Given the description of an element on the screen output the (x, y) to click on. 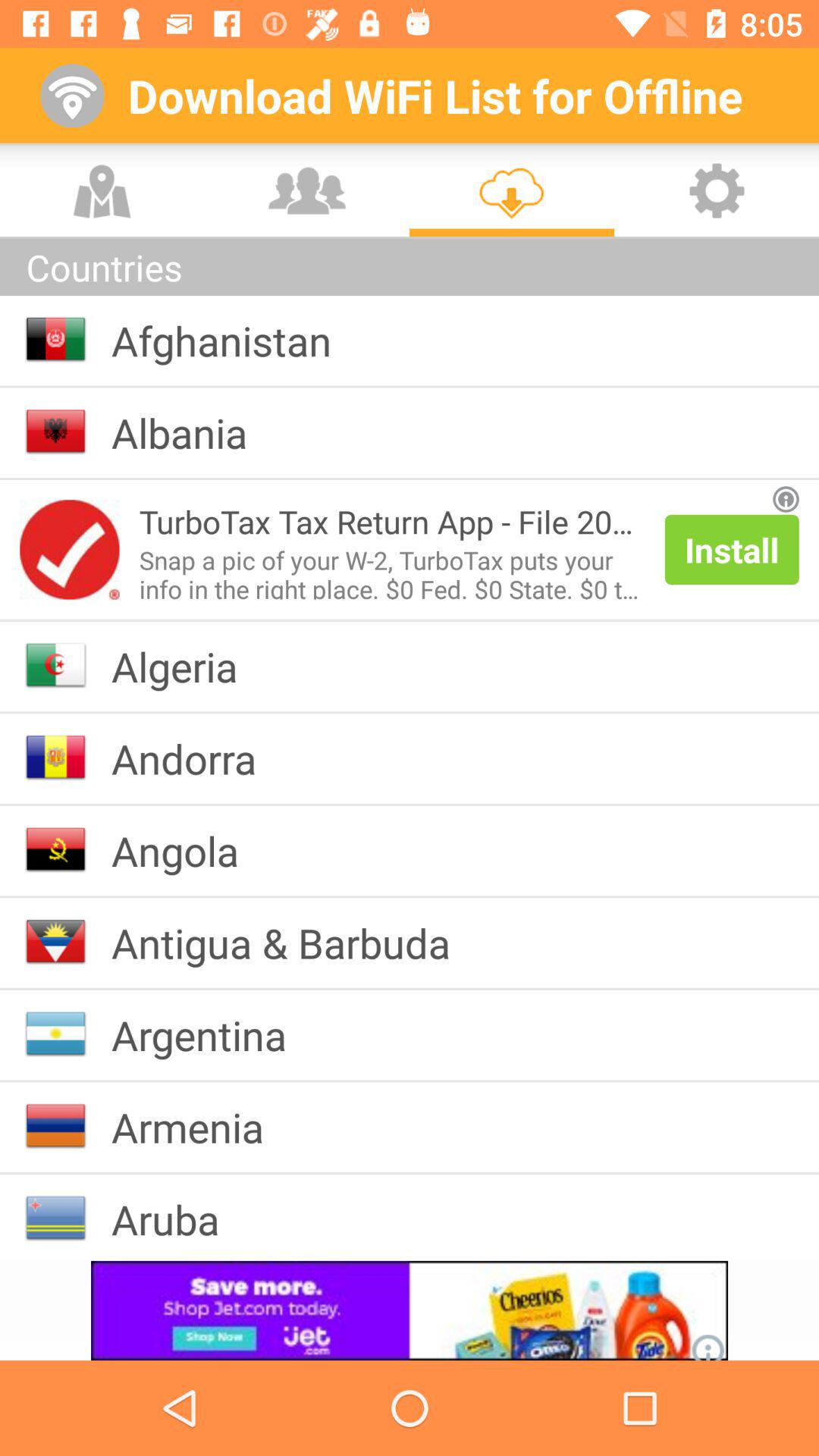
tap angola item (186, 850)
